Given the description of an element on the screen output the (x, y) to click on. 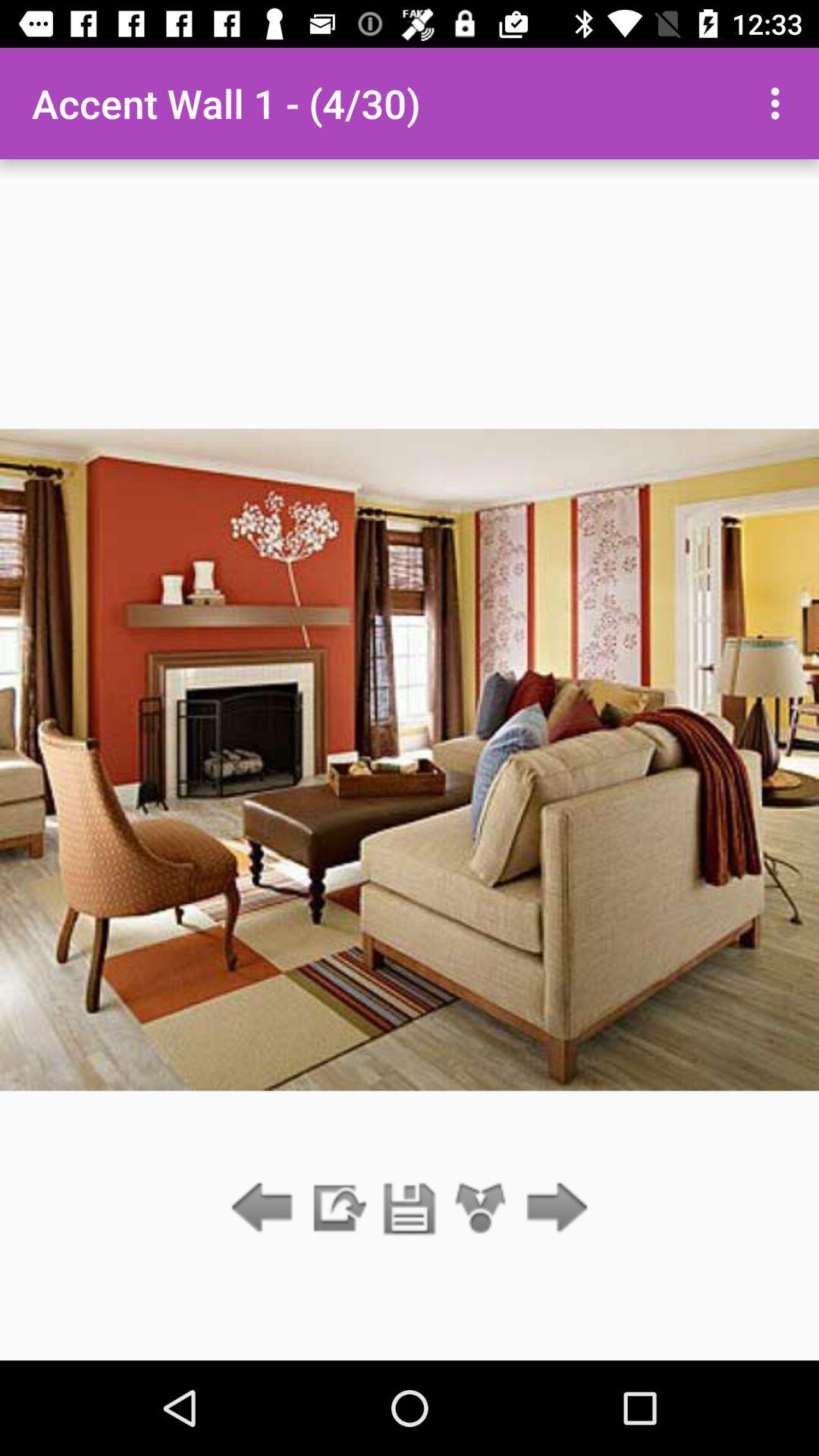
choose the icon at the bottom right corner (552, 1209)
